Given the description of an element on the screen output the (x, y) to click on. 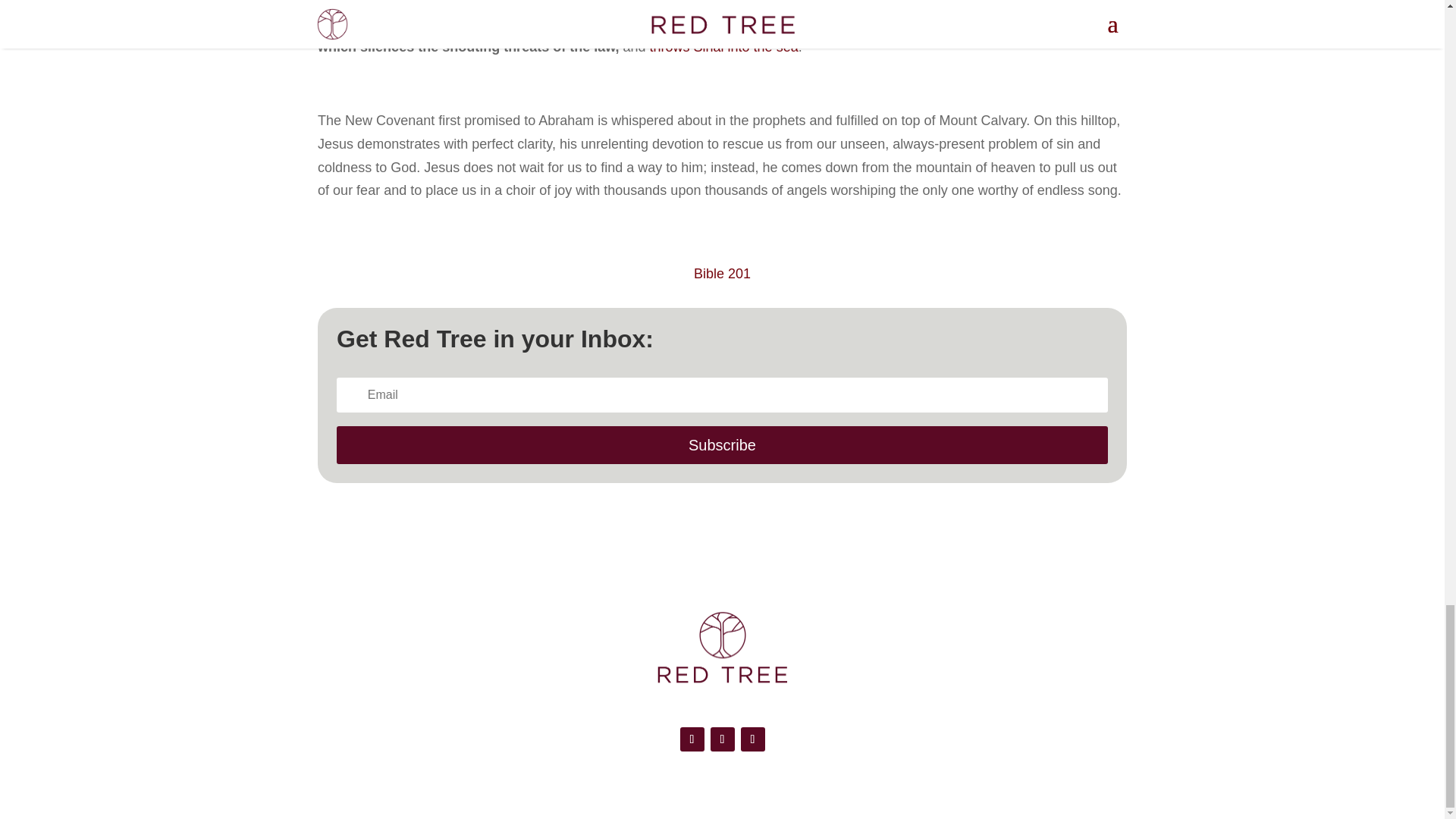
Follow on Facebook (691, 739)
Bible 201 (722, 273)
Follow on X (721, 739)
Follow on Instagram (751, 739)
throws Sinai into the sea (723, 46)
RT stacked logo (721, 647)
Subscribe (722, 444)
